Given the description of an element on the screen output the (x, y) to click on. 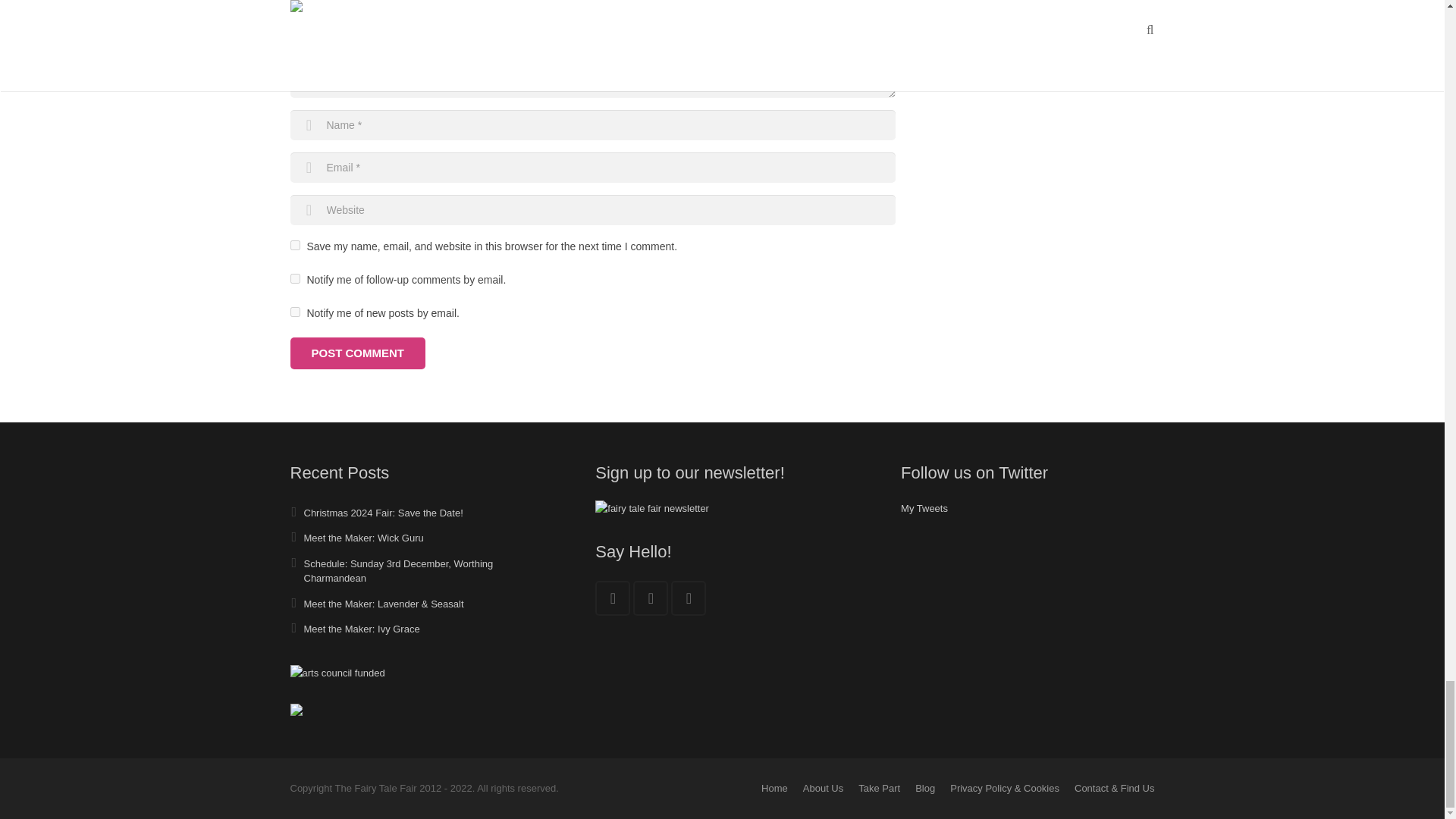
subscribe (294, 311)
subscribe (294, 278)
yes (294, 245)
Post Comment (357, 353)
Post Comment (357, 353)
